Given the description of an element on the screen output the (x, y) to click on. 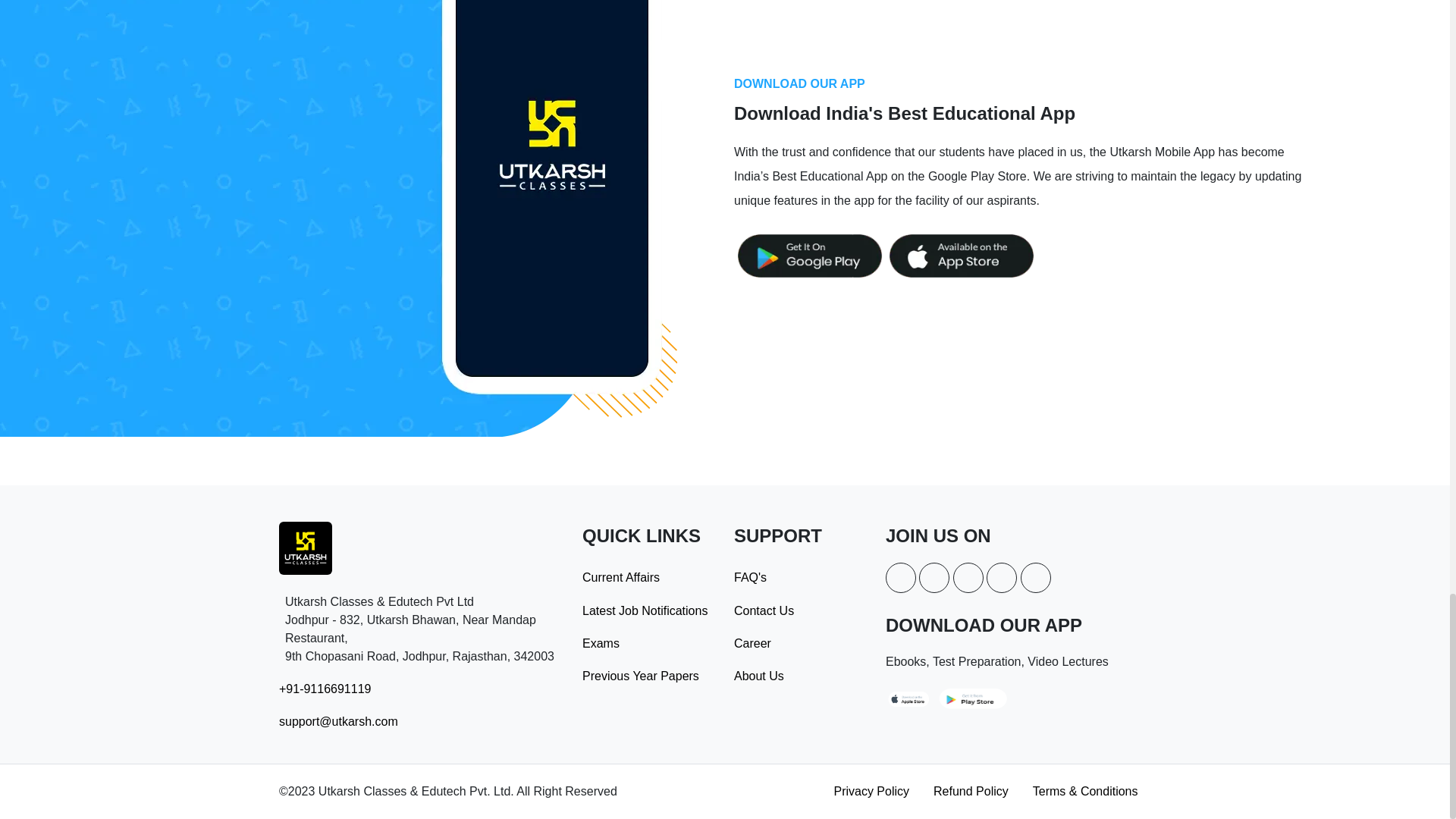
telegram (1035, 577)
instagram (968, 577)
twitter (933, 577)
IOS App (972, 697)
Android App (809, 255)
facebook (900, 577)
Android App (909, 697)
youtube (1001, 577)
IOS App (960, 255)
